Given the description of an element on the screen output the (x, y) to click on. 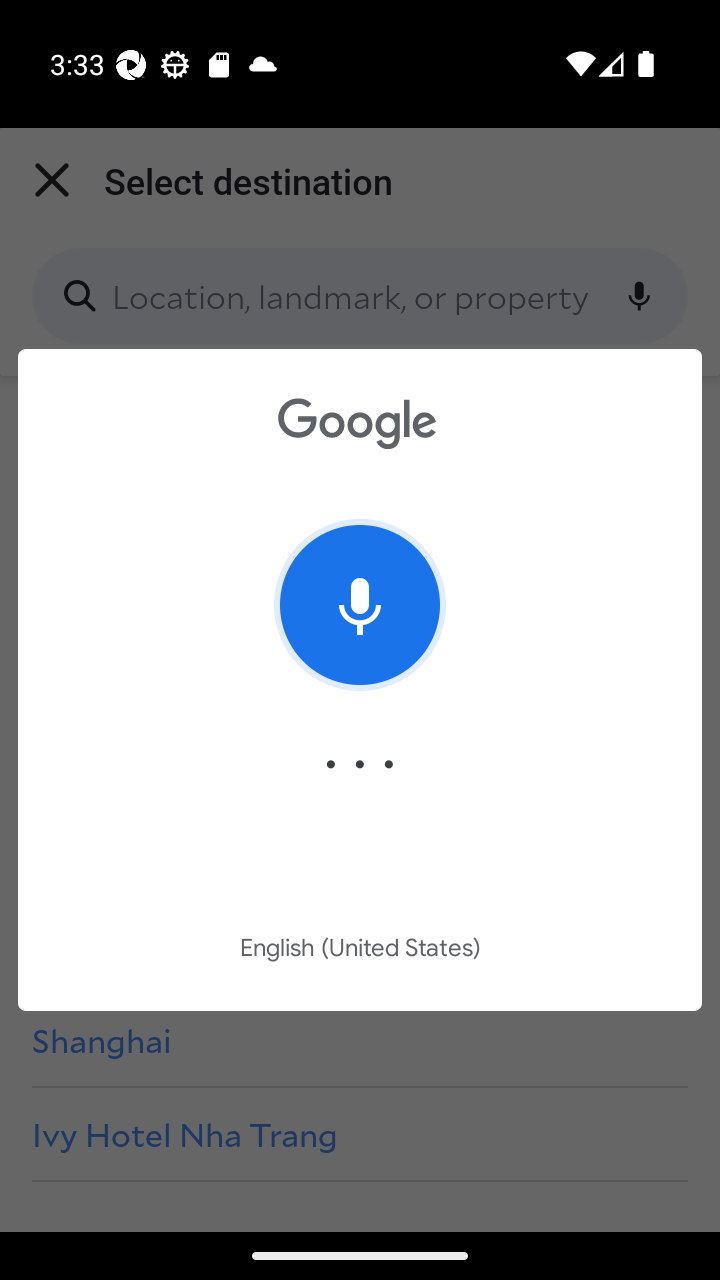
Tap to stop listening (359, 604)
